Given the description of an element on the screen output the (x, y) to click on. 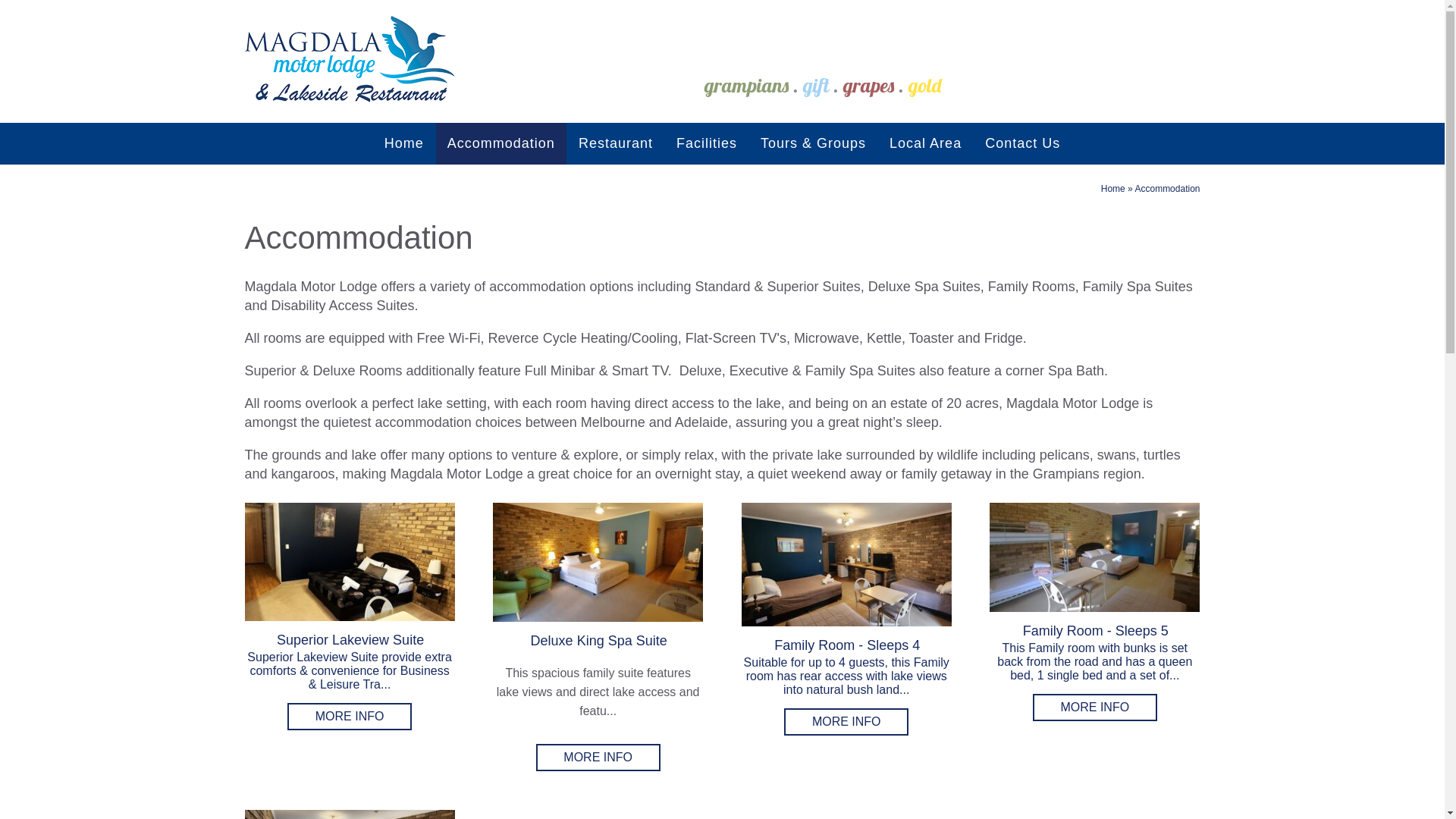
MORE INFO Element type: text (349, 716)
Magdala Motor Lodge Element type: hover (1009, 54)
Family Room - Sleeps 5 Element type: hover (1094, 556)
Family Room - Sleeps 4 Element type: hover (846, 564)
Facilities Element type: text (706, 143)
Accommodation Element type: text (501, 143)
Local Area Element type: text (925, 143)
Magdala Motor Lodge Element type: hover (350, 59)
Restaurant Element type: text (615, 143)
Contact Us Element type: text (1022, 143)
Superior Lakeview Suite Element type: hover (349, 561)
MORE INFO Element type: text (598, 757)
MORE INFO Element type: text (846, 721)
Home Element type: text (404, 143)
Tours & Groups Element type: text (813, 143)
Home Element type: text (1113, 188)
Deluxe King Spa Suite Element type: hover (597, 561)
MORE INFO Element type: text (1094, 707)
Accommodation Element type: text (1166, 188)
